Given the description of an element on the screen output the (x, y) to click on. 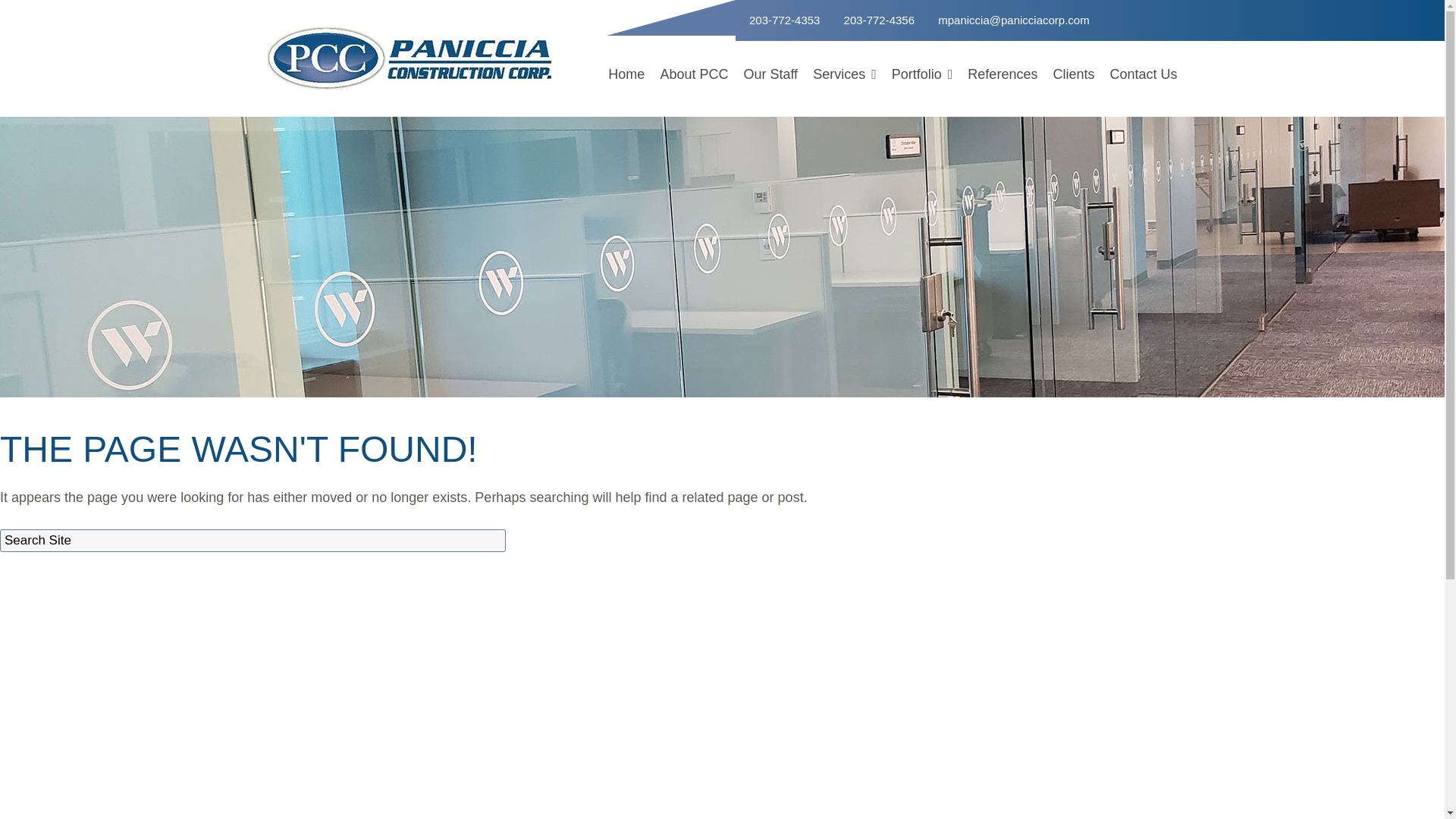
Clients (1073, 74)
General Contractor (844, 103)
203-772-4353 (783, 19)
203-772-4356 (879, 19)
Services (844, 74)
Portfolio (921, 74)
Our Staff (770, 74)
Home (625, 74)
Contact Us (1139, 74)
References (1002, 74)
About PCC (693, 74)
Current Projects (922, 103)
